Given the description of an element on the screen output the (x, y) to click on. 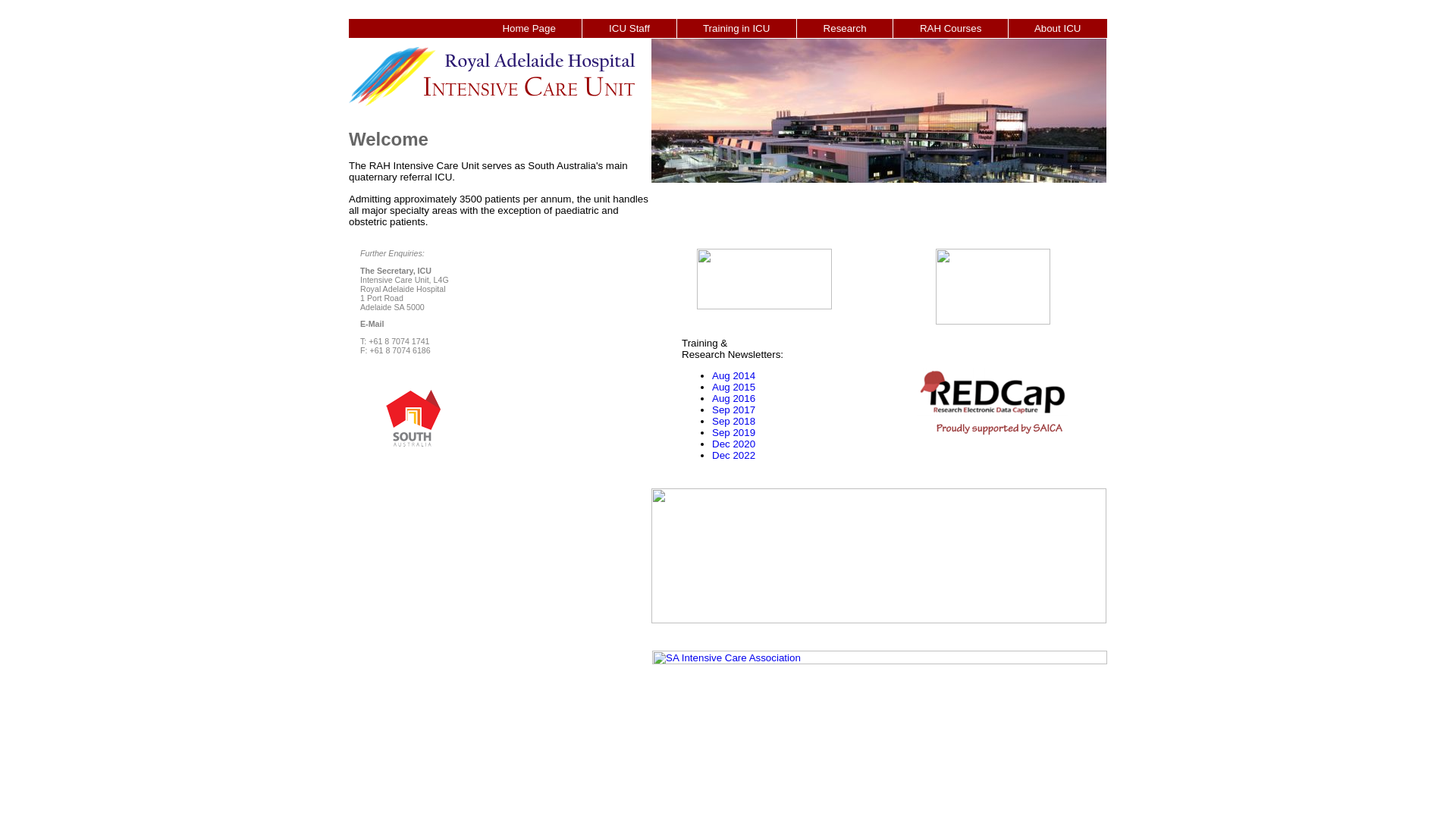
Sep 2017 Element type: text (733, 409)
Aug 2016 Element type: text (733, 398)
E-Mail Element type: text (371, 323)
Aug 2015 Element type: text (733, 386)
    About ICU     Element type: text (1057, 28)
Aug 2014 Element type: text (733, 375)
Dec 2022 Element type: text (733, 455)
    RAH Courses     Element type: text (950, 28)
Sep 2018 Element type: text (733, 420)
    ICU Staff     Element type: text (628, 28)
Dec 2020 Element type: text (733, 443)
Sep 2019 Element type: text (733, 432)
    Research     Element type: text (845, 28)
    Training in ICU     Element type: text (736, 28)
    Home Page     Element type: text (529, 28)
